Given the description of an element on the screen output the (x, y) to click on. 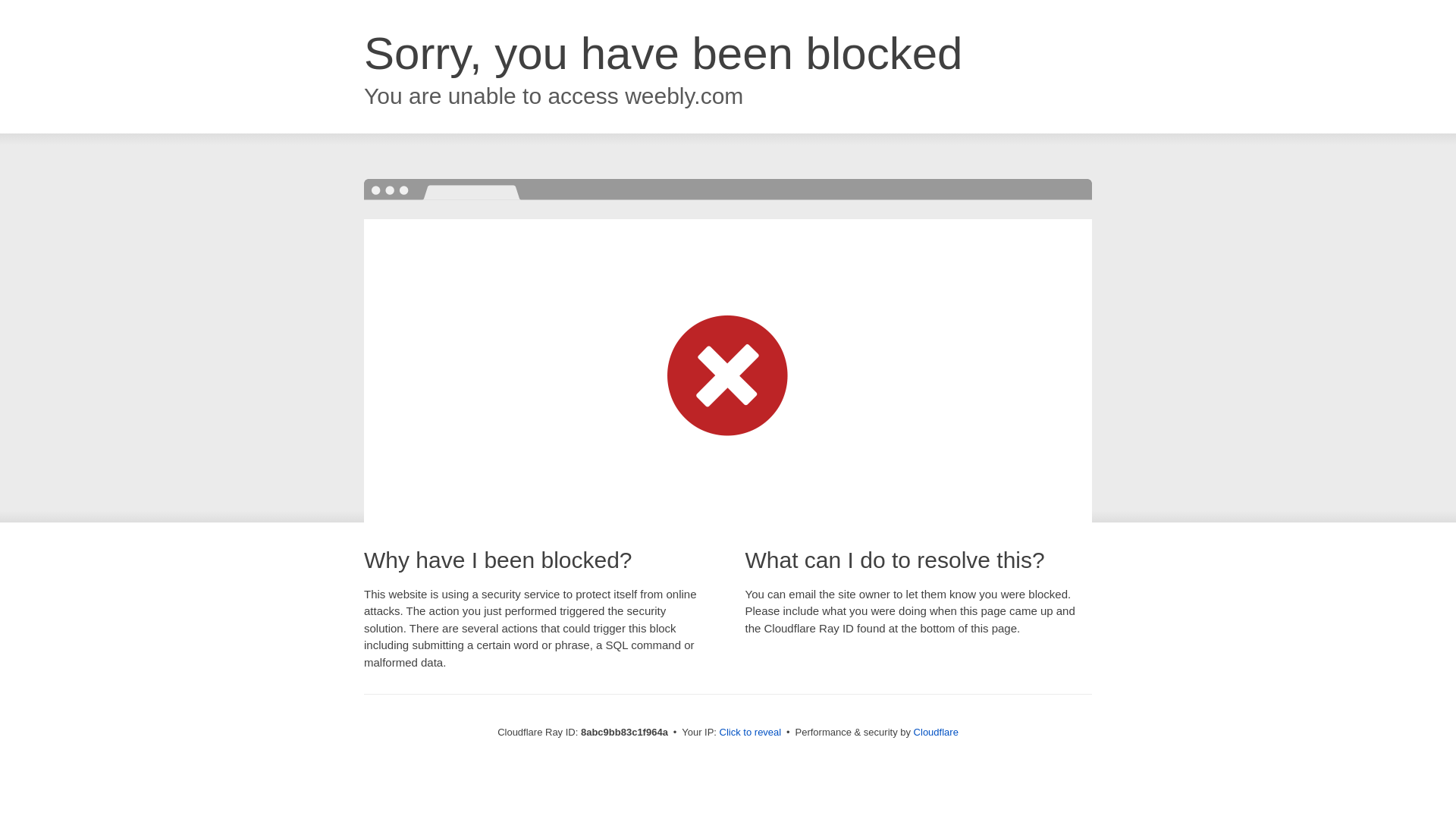
Cloudflare (934, 731)
Click to reveal (748, 732)
